Given the description of an element on the screen output the (x, y) to click on. 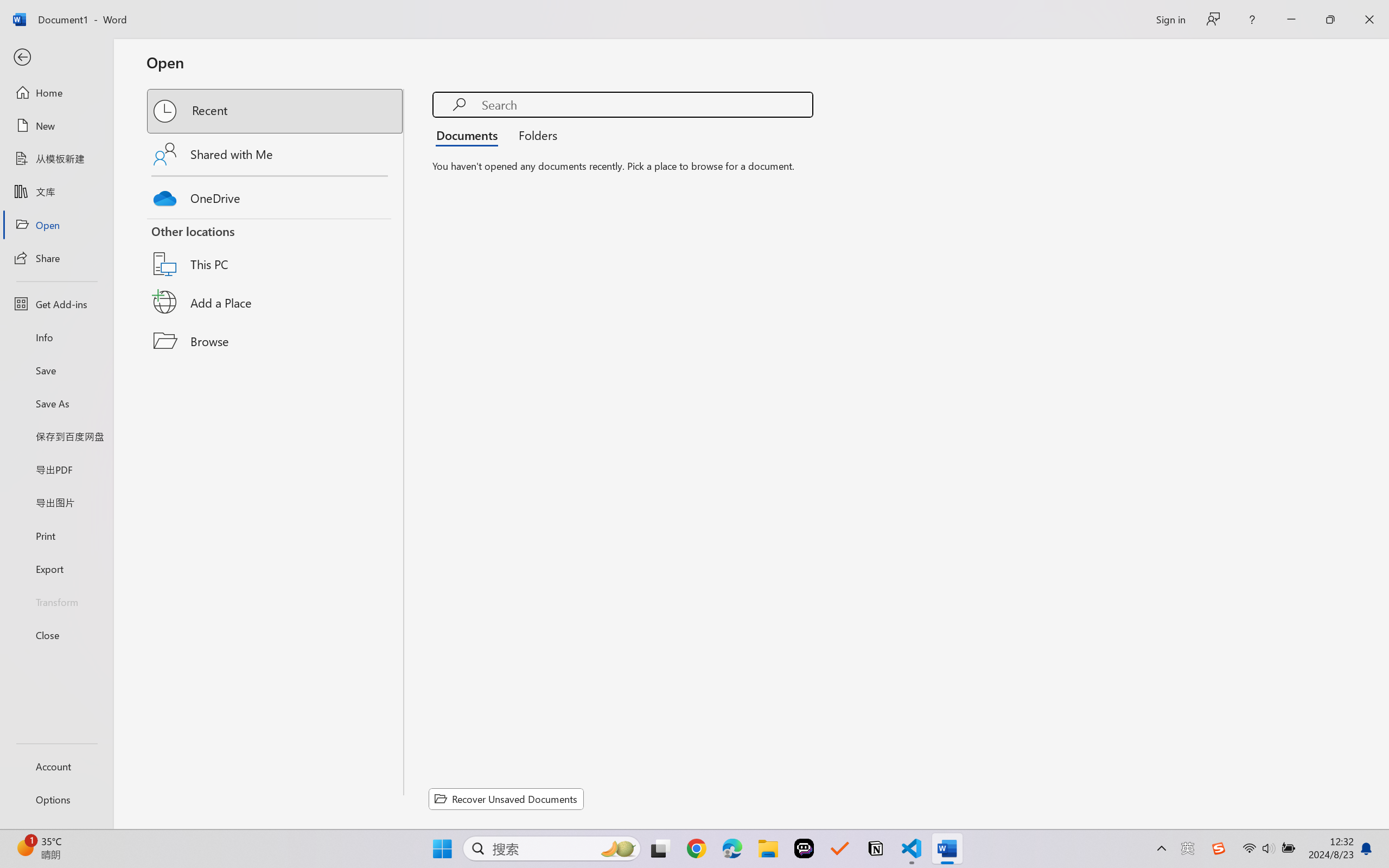
Recent (275, 110)
Transform (56, 601)
Back (56, 57)
Add a Place (275, 302)
Documents (469, 134)
Get Add-ins (56, 303)
